Given the description of an element on the screen output the (x, y) to click on. 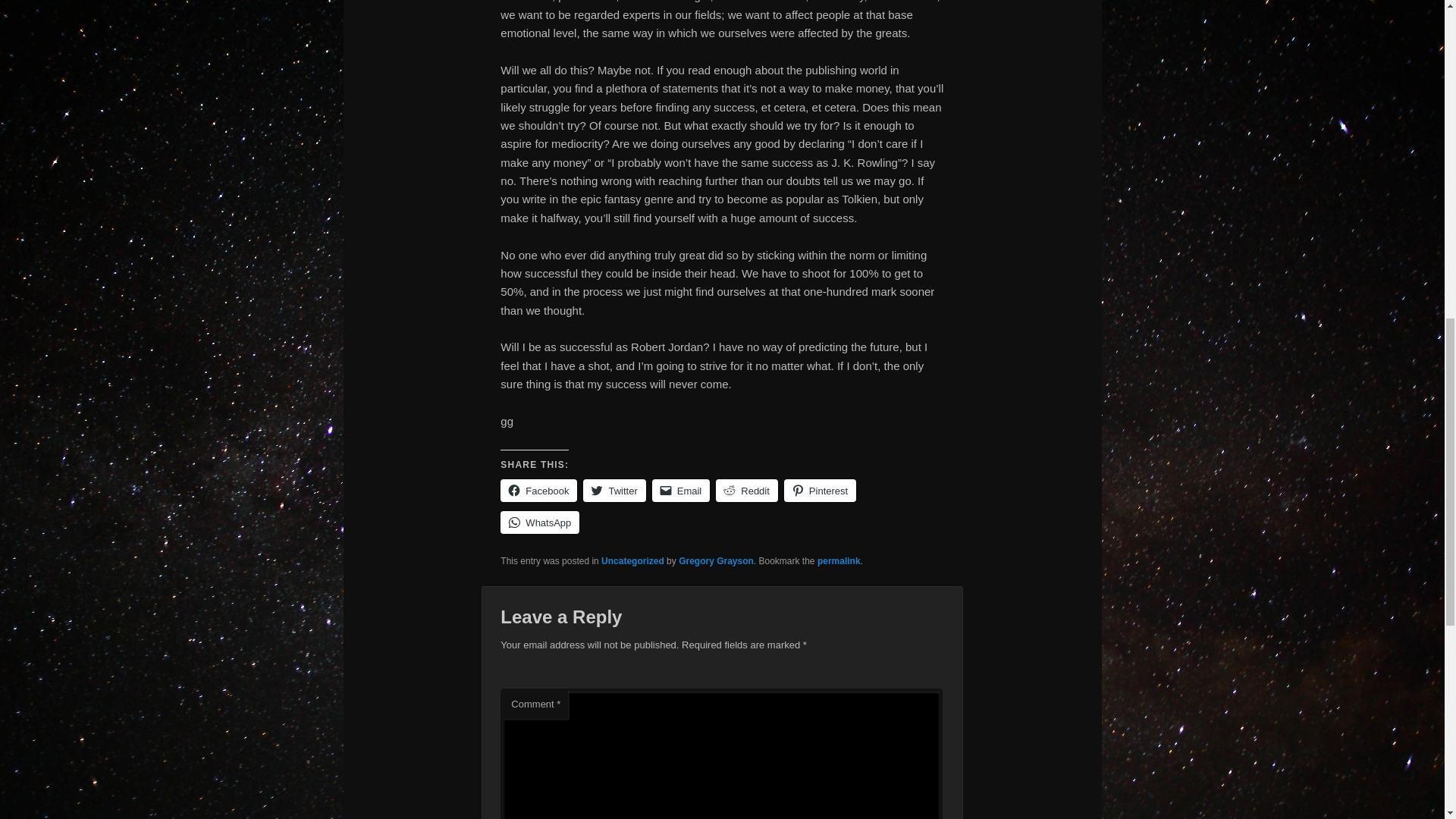
Pinterest (820, 490)
WhatsApp (539, 522)
Email (681, 490)
Click to share on Twitter (614, 490)
Gregory Grayson (716, 561)
Uncategorized (632, 561)
permalink (838, 561)
Reddit (746, 490)
Facebook (538, 490)
Click to share on WhatsApp (539, 522)
Click to email a link to a friend (681, 490)
Click to share on Pinterest (820, 490)
Twitter (614, 490)
Click to share on Facebook (538, 490)
Click to share on Reddit (746, 490)
